Given the description of an element on the screen output the (x, y) to click on. 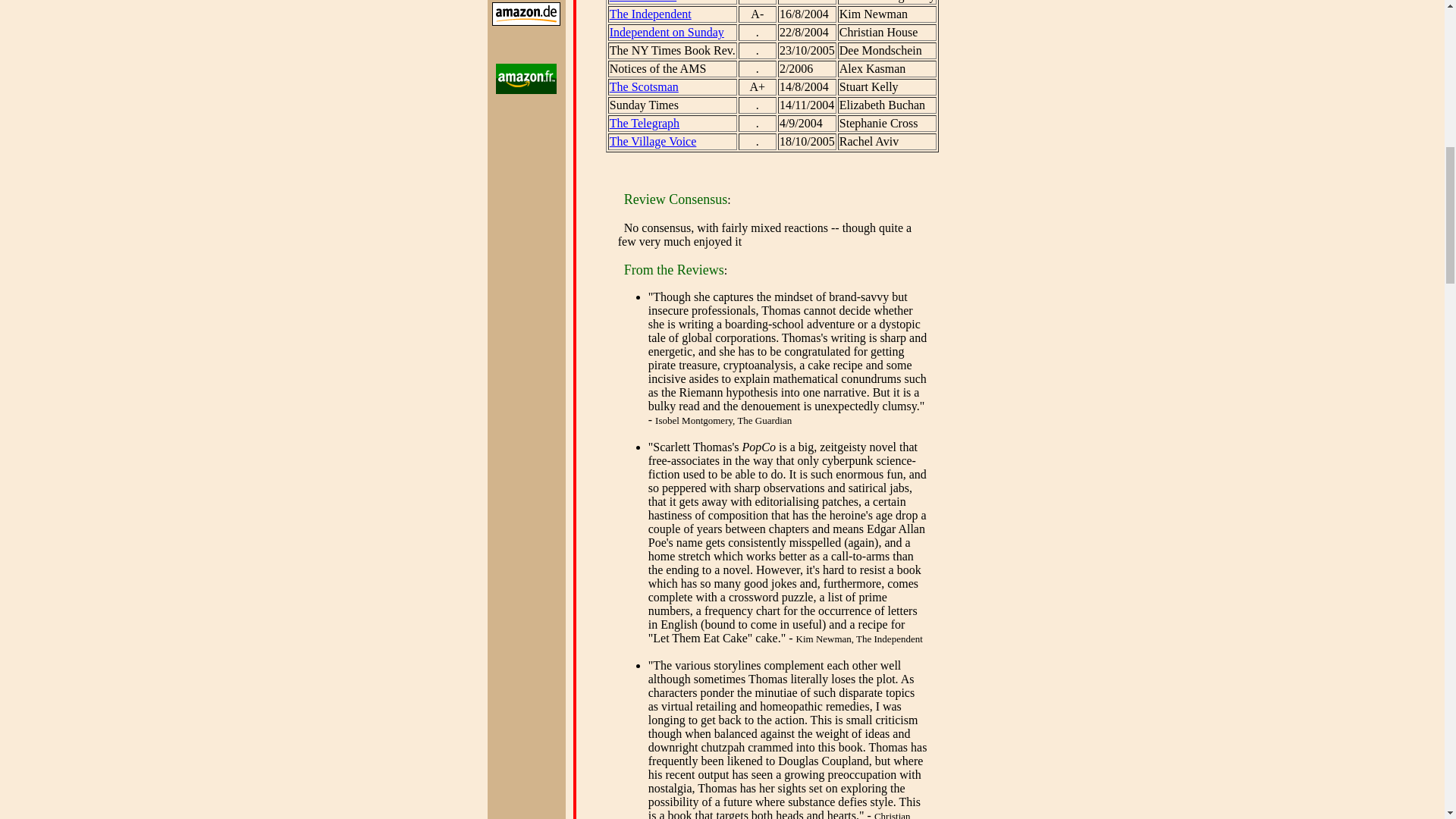
The Scotsman (644, 86)
The Guardian (643, 1)
The Telegraph (644, 123)
The Independent (650, 13)
Independent on Sunday (666, 31)
The Village Voice (653, 141)
